Given the description of an element on the screen output the (x, y) to click on. 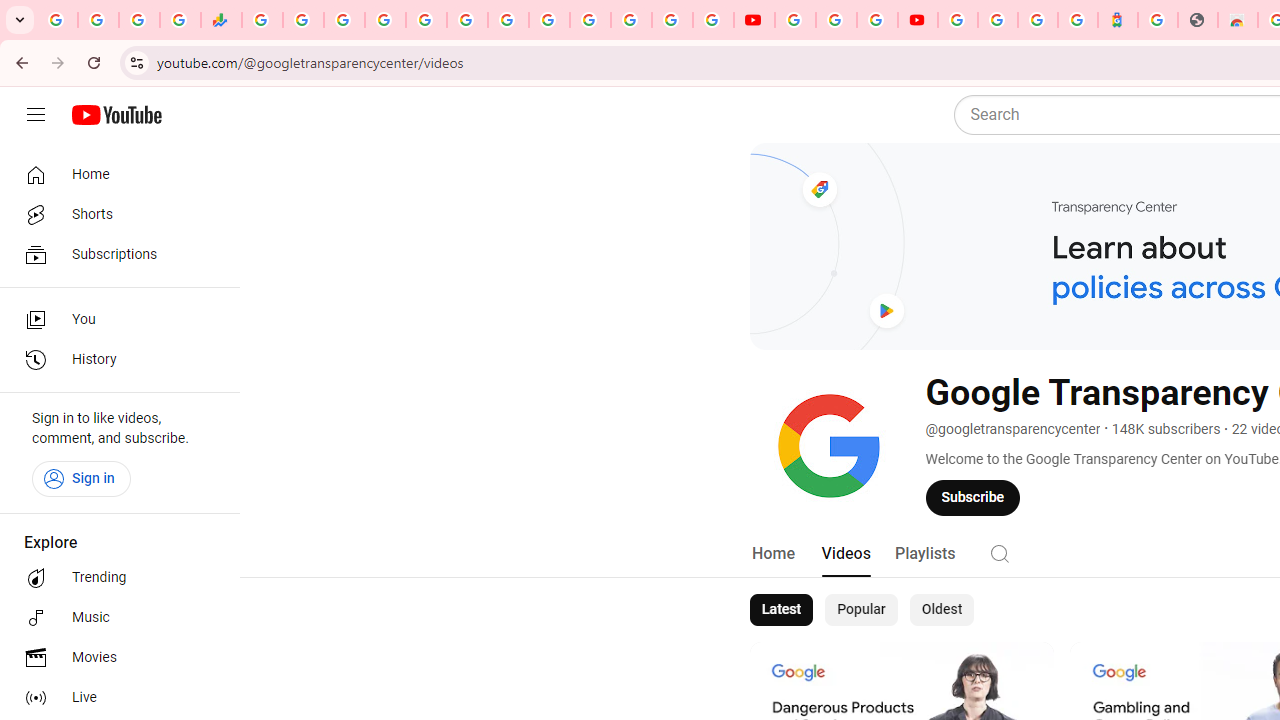
Sign in - Google Accounts (997, 20)
Sign in - Google Accounts (589, 20)
Subscriptions (113, 254)
Subscribe (973, 497)
Privacy Checkup (712, 20)
Latest (780, 609)
Atour Hotel - Google hotels (1117, 20)
Oldest (941, 609)
History (113, 359)
